Given the description of an element on the screen output the (x, y) to click on. 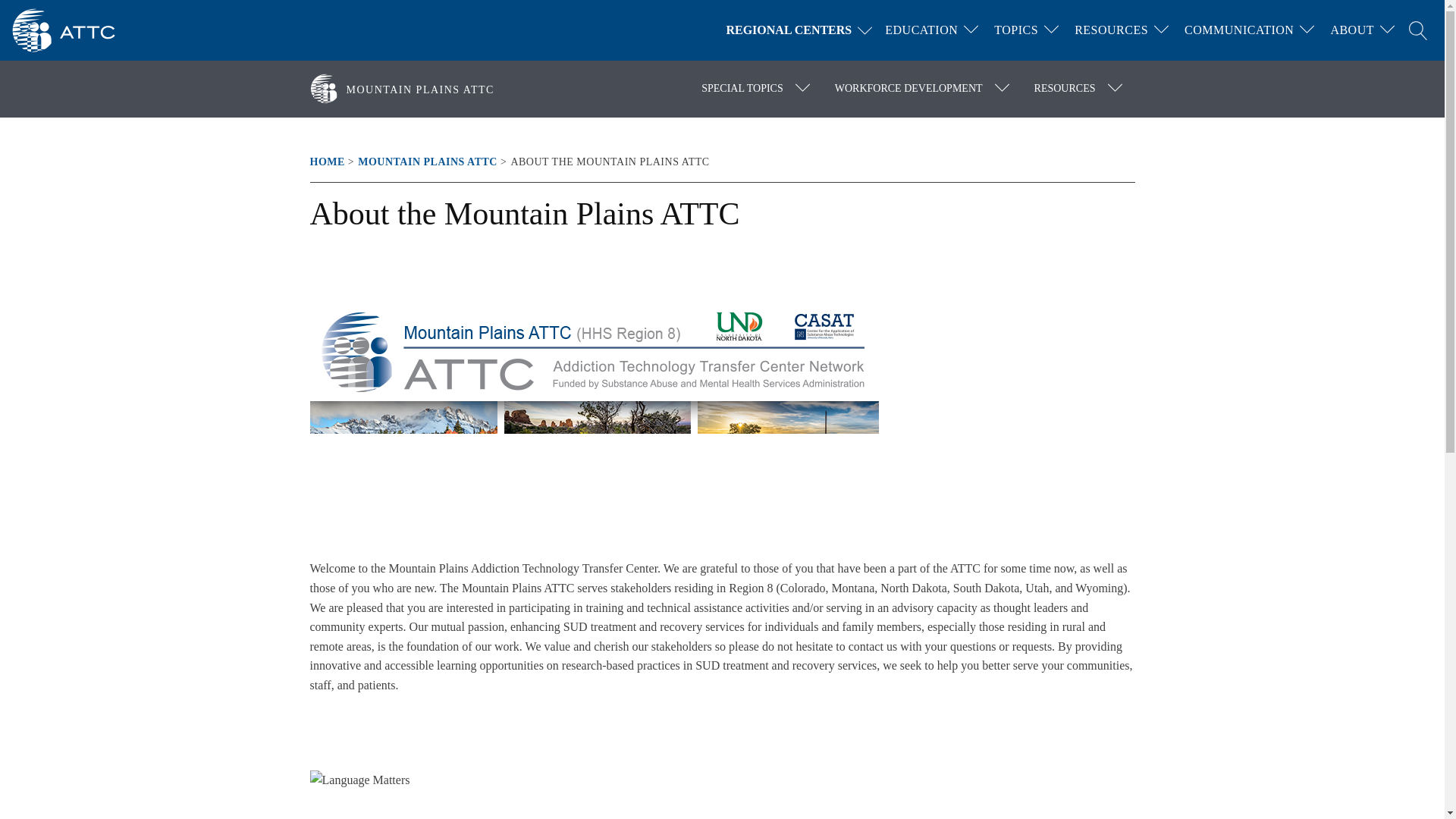
EDUCATION (921, 30)
RESOURCES (1111, 30)
REGIONAL CENTERS (802, 30)
TOPICS (1015, 30)
